Given the description of an element on the screen output the (x, y) to click on. 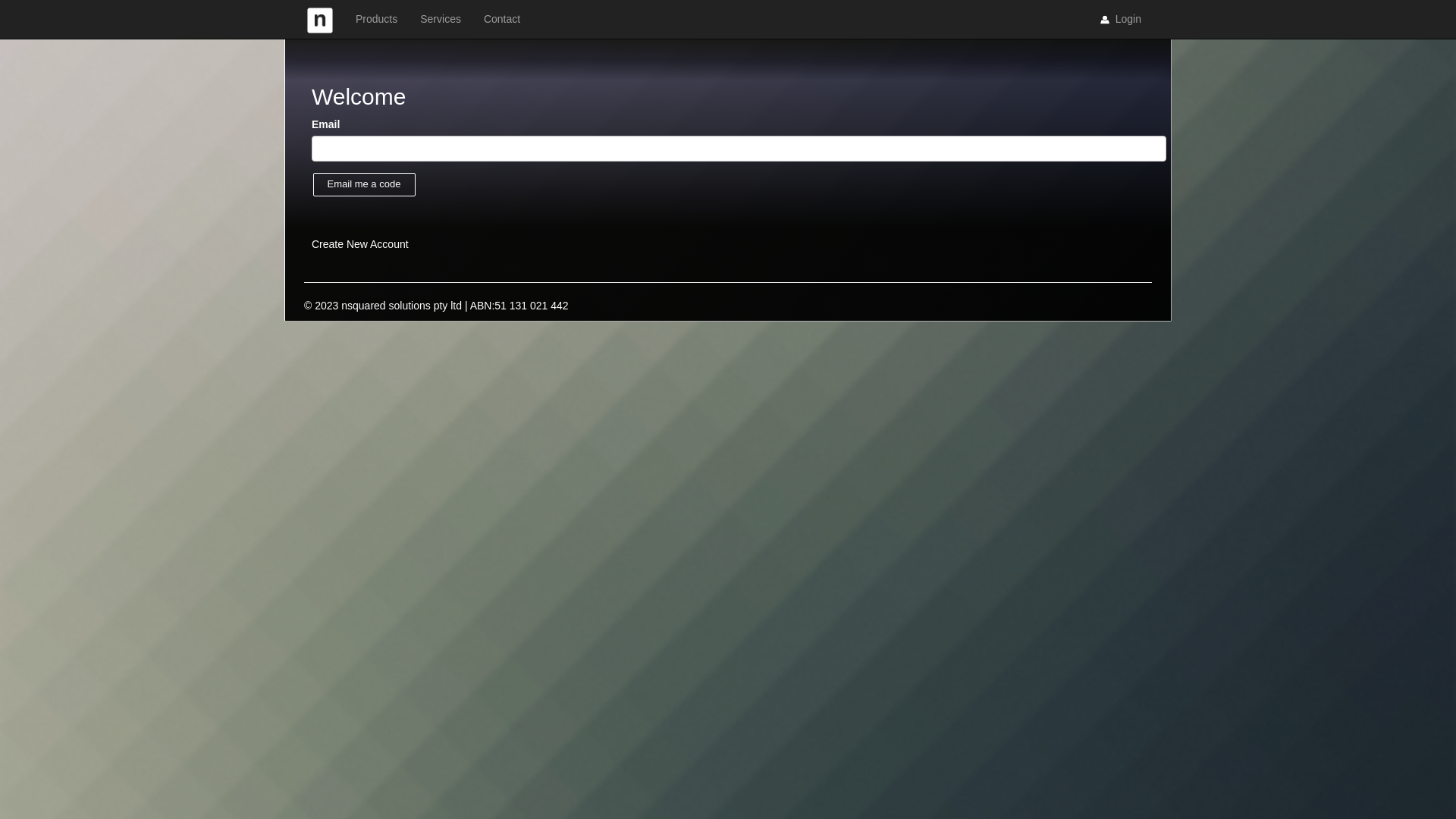
Create New Account Element type: text (359, 244)
Services Element type: text (440, 18)
Login Element type: text (1118, 19)
Email me a code Element type: text (363, 184)
Contact Element type: text (501, 18)
Products Element type: text (376, 18)
